Given the description of an element on the screen output the (x, y) to click on. 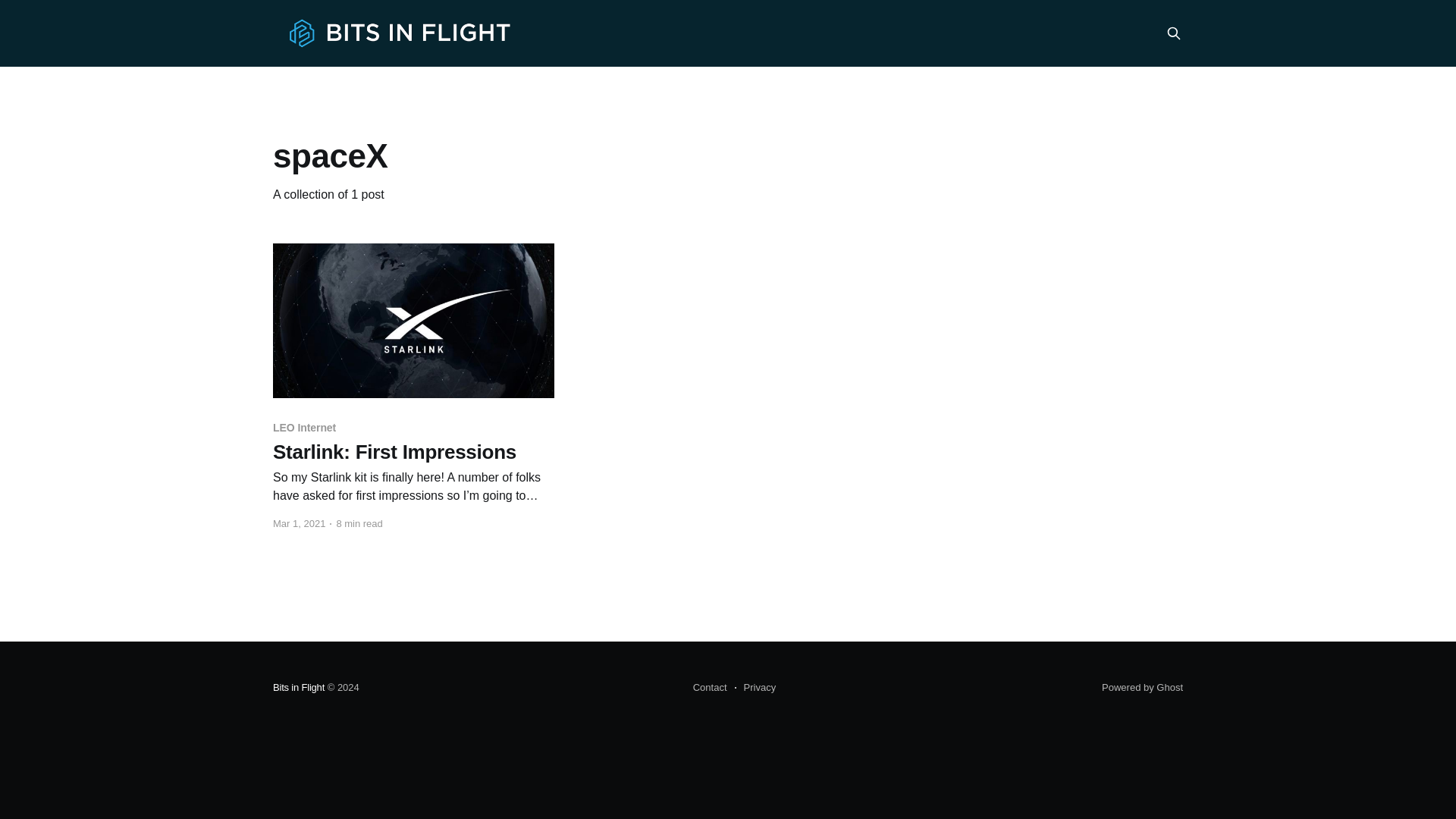
Powered by Ghost (1142, 686)
Bits in Flight (298, 686)
Contact (709, 687)
Privacy (755, 687)
